Given the description of an element on the screen output the (x, y) to click on. 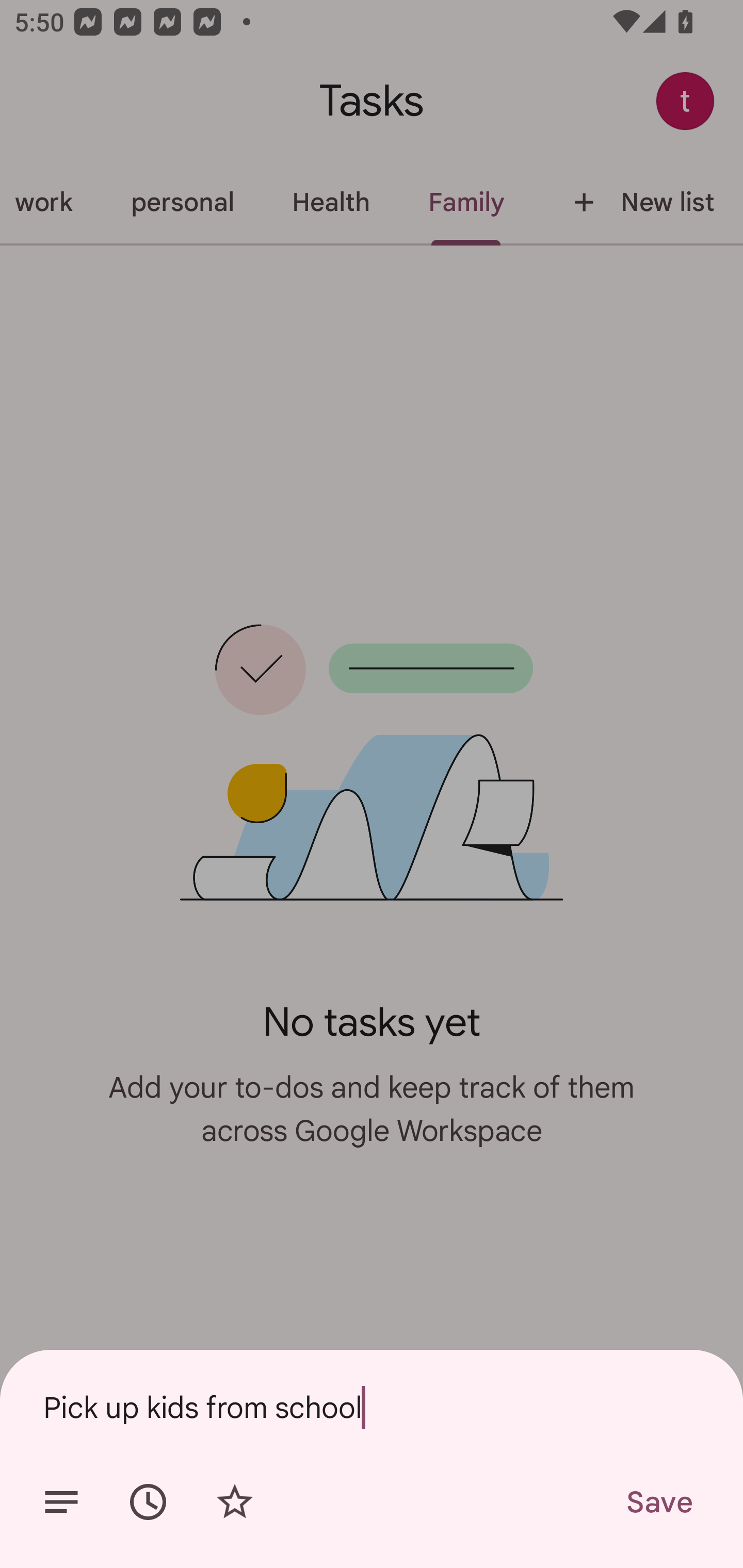
Pick up kids from school (371, 1407)
Save (659, 1501)
Add details (60, 1501)
Set date/time (147, 1501)
Add star (234, 1501)
